Given the description of an element on the screen output the (x, y) to click on. 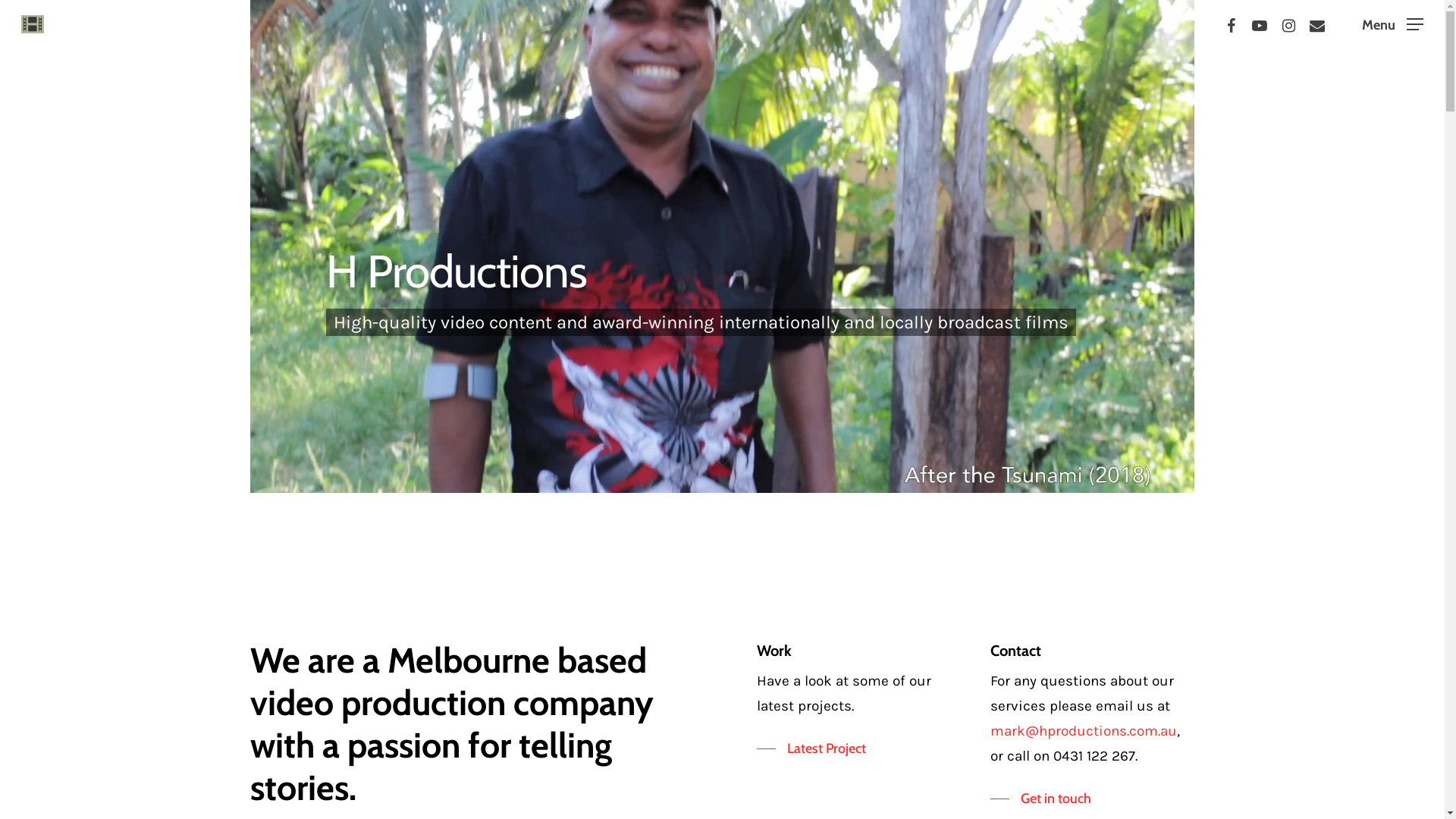
Latest Project Element type: text (811, 748)
mark@hproductions.com.au Element type: text (1083, 730)
youtube Element type: text (1259, 24)
Menu Element type: text (1392, 24)
email Element type: text (1316, 24)
instagram Element type: text (1288, 24)
Get in touch Element type: text (1040, 798)
facebook Element type: text (1230, 24)
